Given the description of an element on the screen output the (x, y) to click on. 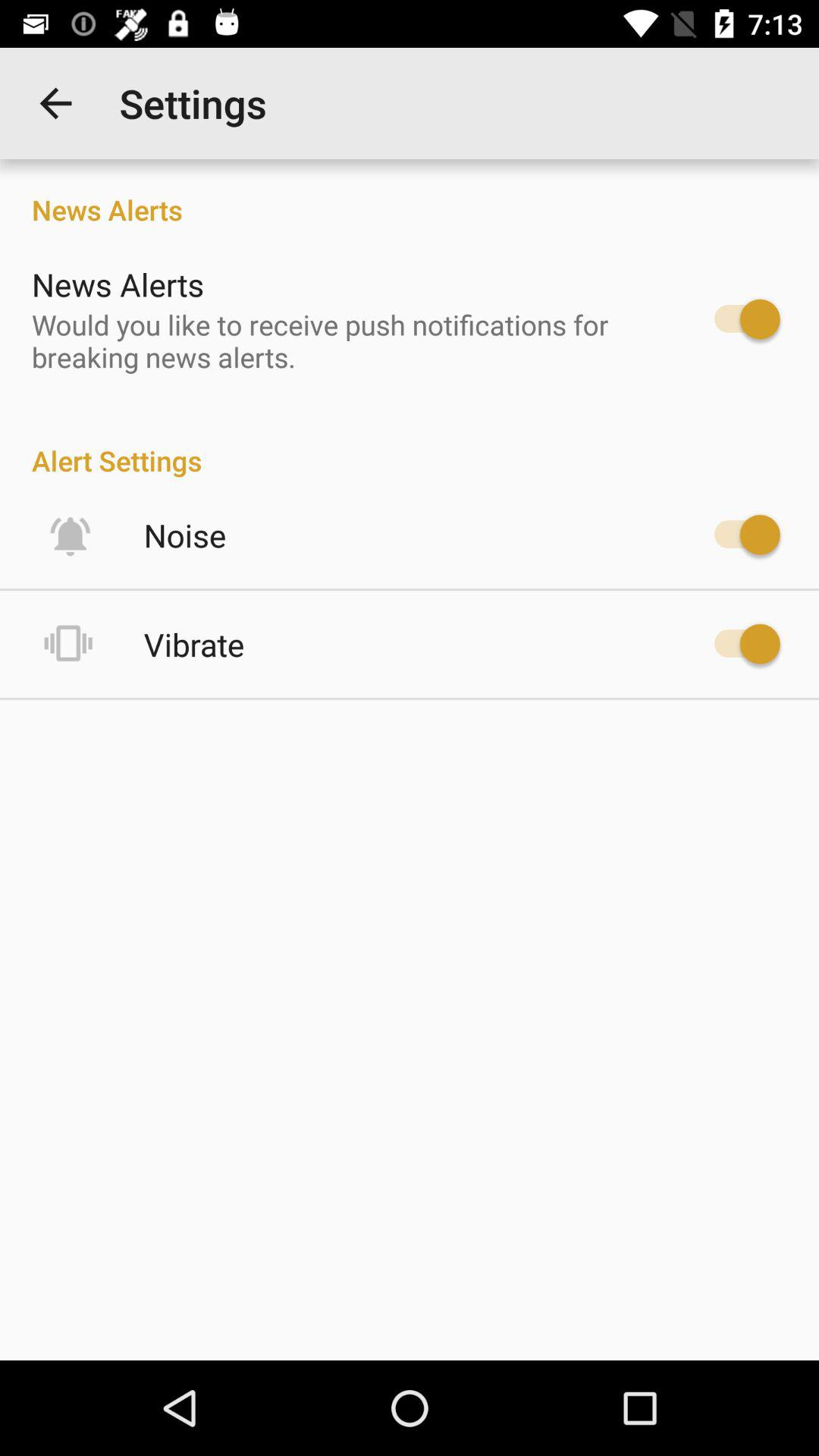
open item below would you like item (409, 444)
